Given the description of an element on the screen output the (x, y) to click on. 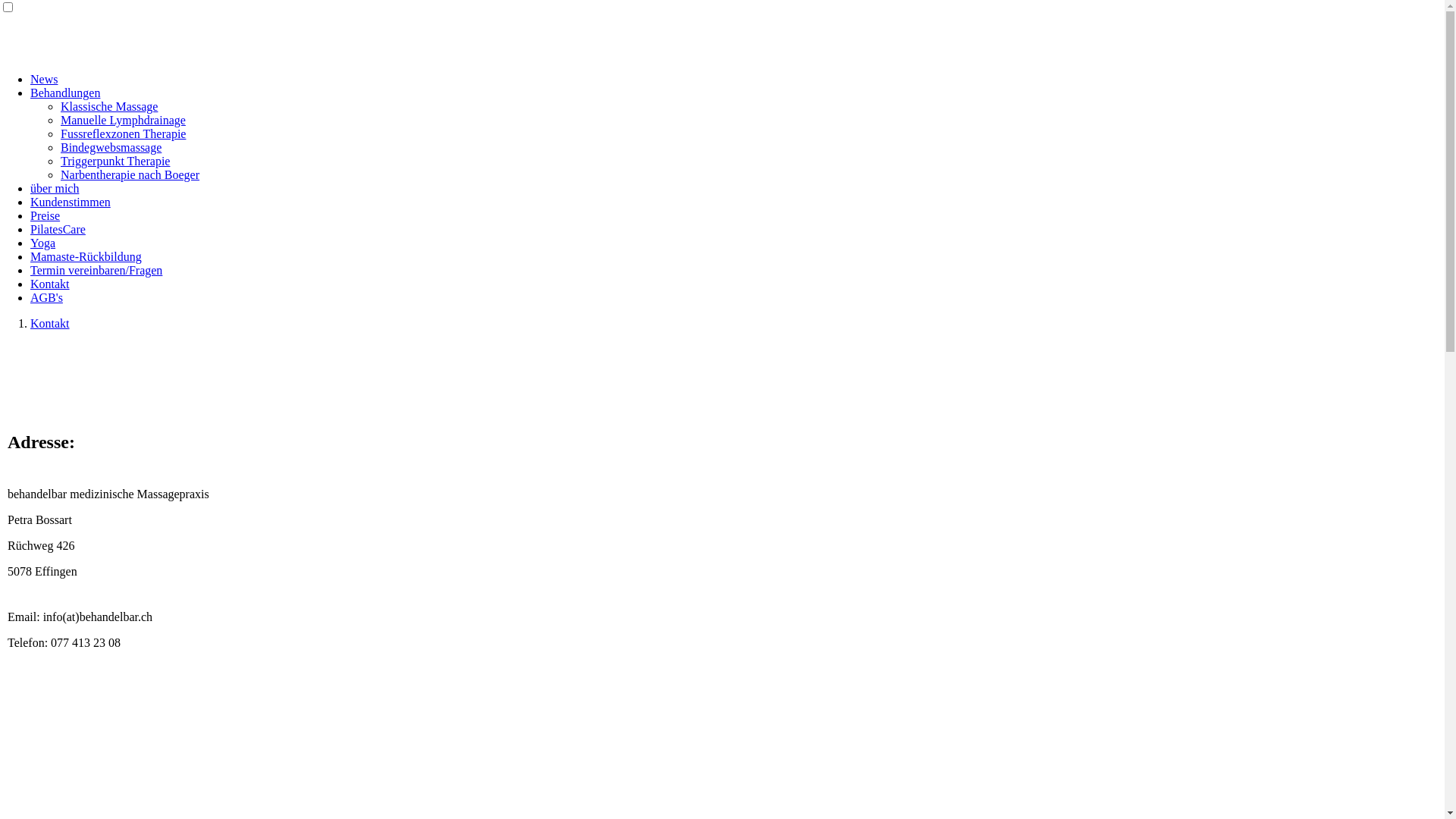
Fussreflexzonen Therapie Element type: text (122, 133)
Yoga Element type: text (42, 242)
Klassische Massage Element type: text (108, 106)
Behandlungen Element type: text (65, 92)
Manuelle Lymphdrainage Element type: text (122, 119)
Kontakt Element type: text (49, 322)
Kundenstimmen Element type: text (70, 201)
Termin vereinbaren/Fragen Element type: text (96, 269)
AGB's Element type: text (46, 297)
Triggerpunkt Therapie Element type: text (114, 160)
Preise Element type: text (44, 215)
News Element type: text (43, 78)
Kontakt Element type: text (49, 283)
Bindegwebsmassage Element type: text (110, 147)
Narbentherapie nach Boeger Element type: text (129, 174)
PilatesCare Element type: text (57, 228)
